Given the description of an element on the screen output the (x, y) to click on. 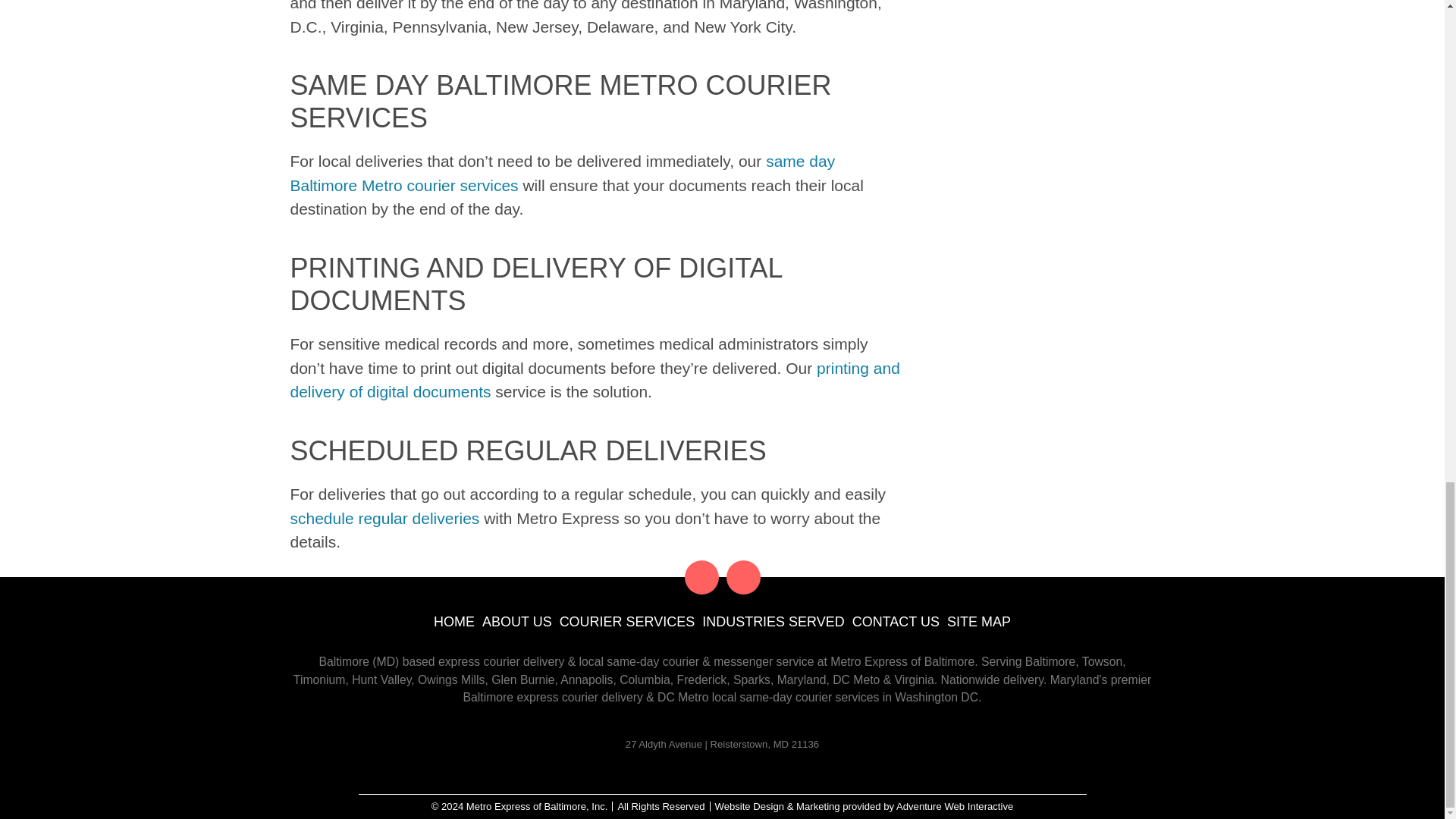
Adventure Web Interactive (954, 806)
same day Baltimore Metro courier services (561, 173)
CONTACT US (895, 620)
printing and delivery of digital documents (594, 380)
SITE MAP (978, 620)
HOME (453, 620)
ABOUT US (516, 620)
COURIER SERVICES (627, 620)
schedule regular deliveries (384, 517)
INDUSTRIES SERVED (772, 620)
